Given the description of an element on the screen output the (x, y) to click on. 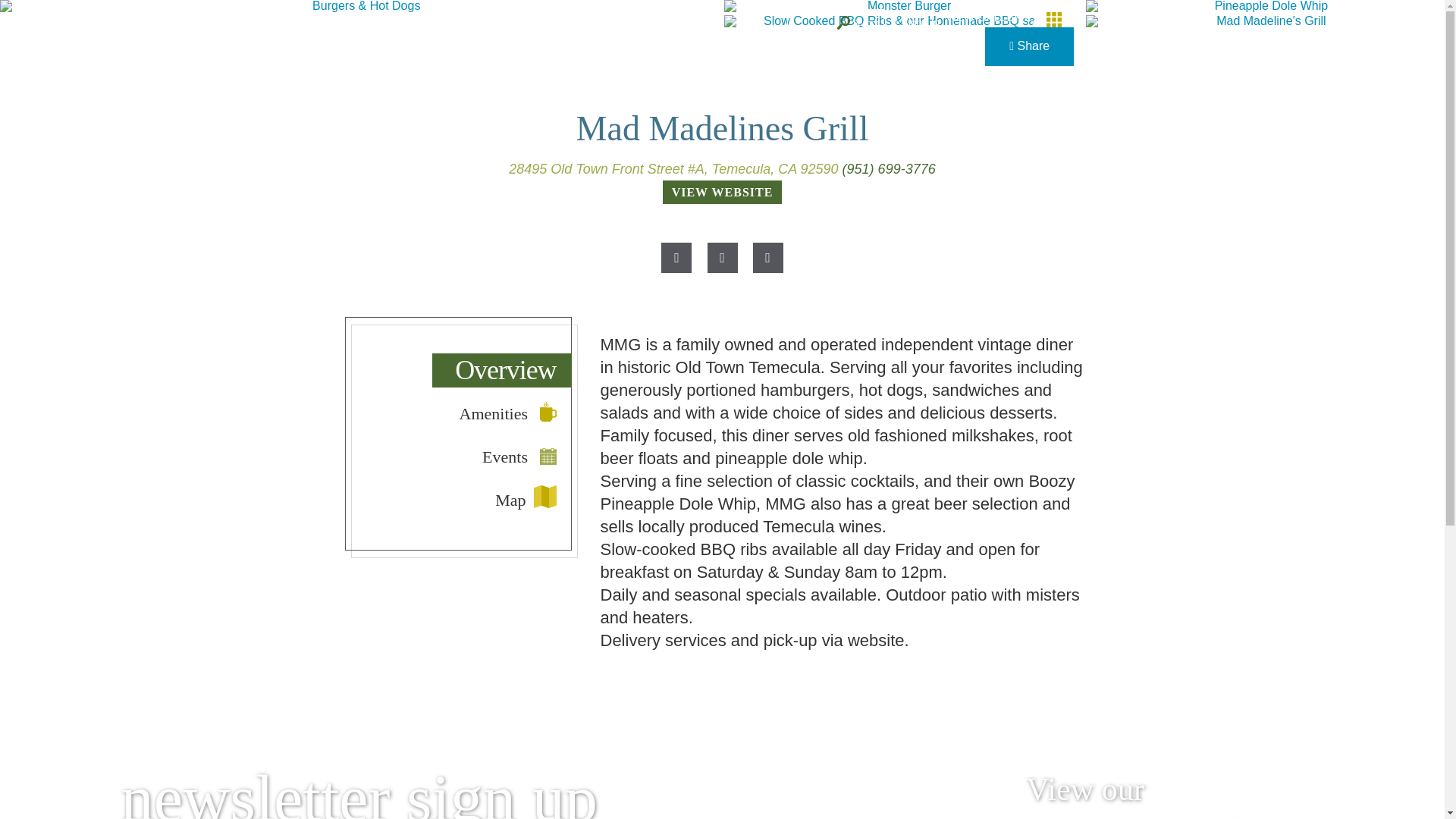
Media (552, 23)
WINE (492, 65)
Blog (661, 23)
Blog (661, 23)
Sign-Up (915, 22)
THINGS TO DO (579, 65)
Partners (609, 23)
Media (552, 23)
Meetings (494, 23)
Wine (492, 65)
